Given the description of an element on the screen output the (x, y) to click on. 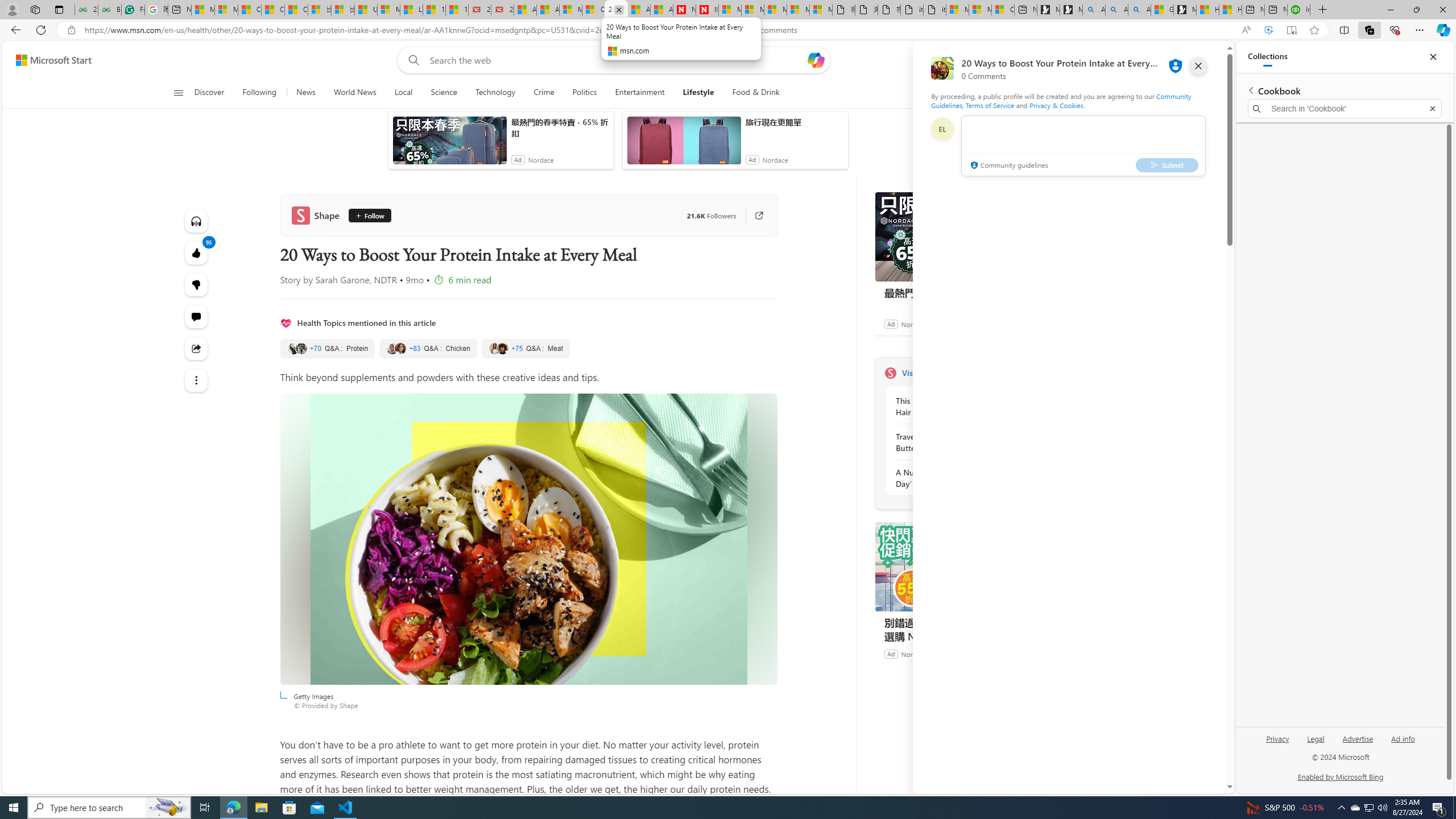
Illness news & latest pictures from Newsweek.com (707, 9)
World News (354, 92)
Submit (1166, 164)
Newsweek - News, Analysis, Politics, Business, Technology (684, 9)
Skip to content (49, 59)
Legal (1315, 738)
Privacy (1278, 738)
Terms of Service (989, 104)
Search in 'Cookbook' (1345, 108)
95 (196, 284)
See more (196, 380)
Dislike (196, 284)
